Given the description of an element on the screen output the (x, y) to click on. 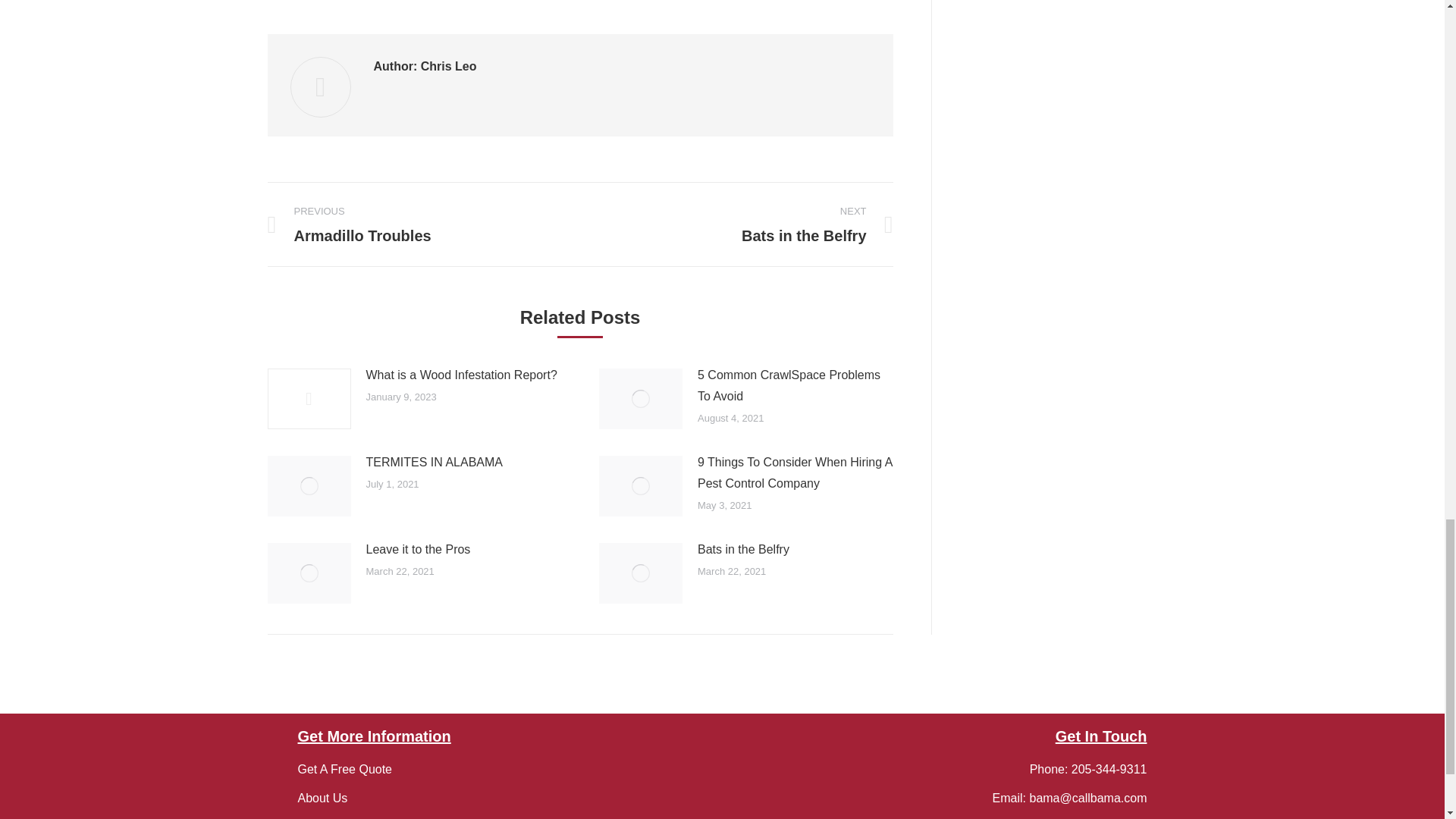
bama-reversed-logo (721, 774)
